Given the description of an element on the screen output the (x, y) to click on. 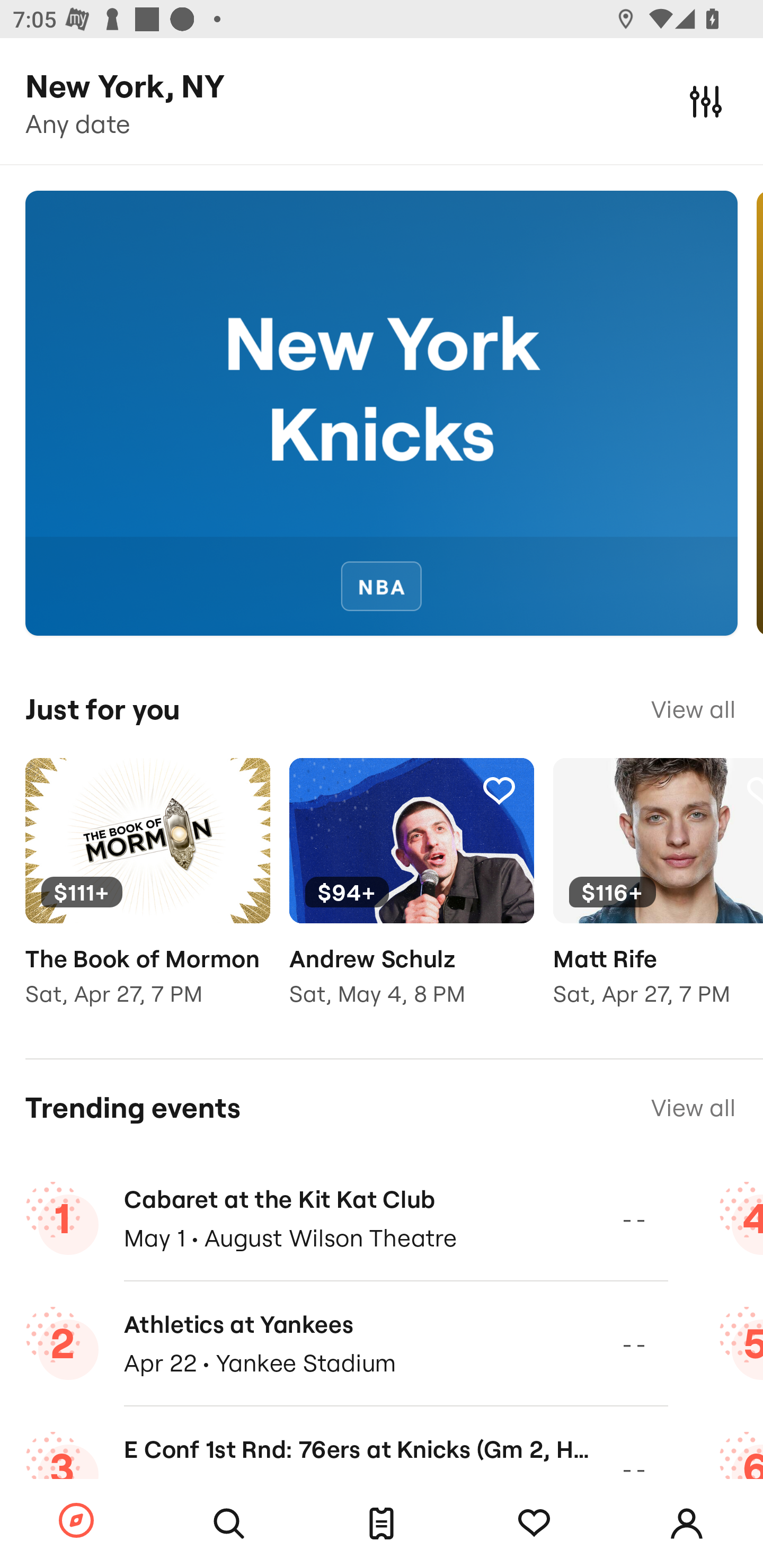
Filters (705, 100)
View all (693, 709)
Tracking $94+ Andrew Schulz Sat, May 4, 8 PM (411, 895)
Tracking $116+ Matt Rife Sat, Apr 27, 7 PM (658, 895)
Tracking (234, 790)
Tracking (498, 790)
View all (693, 1108)
Browse (76, 1521)
Search (228, 1523)
Tickets (381, 1523)
Tracking (533, 1523)
Account (686, 1523)
